Given the description of an element on the screen output the (x, y) to click on. 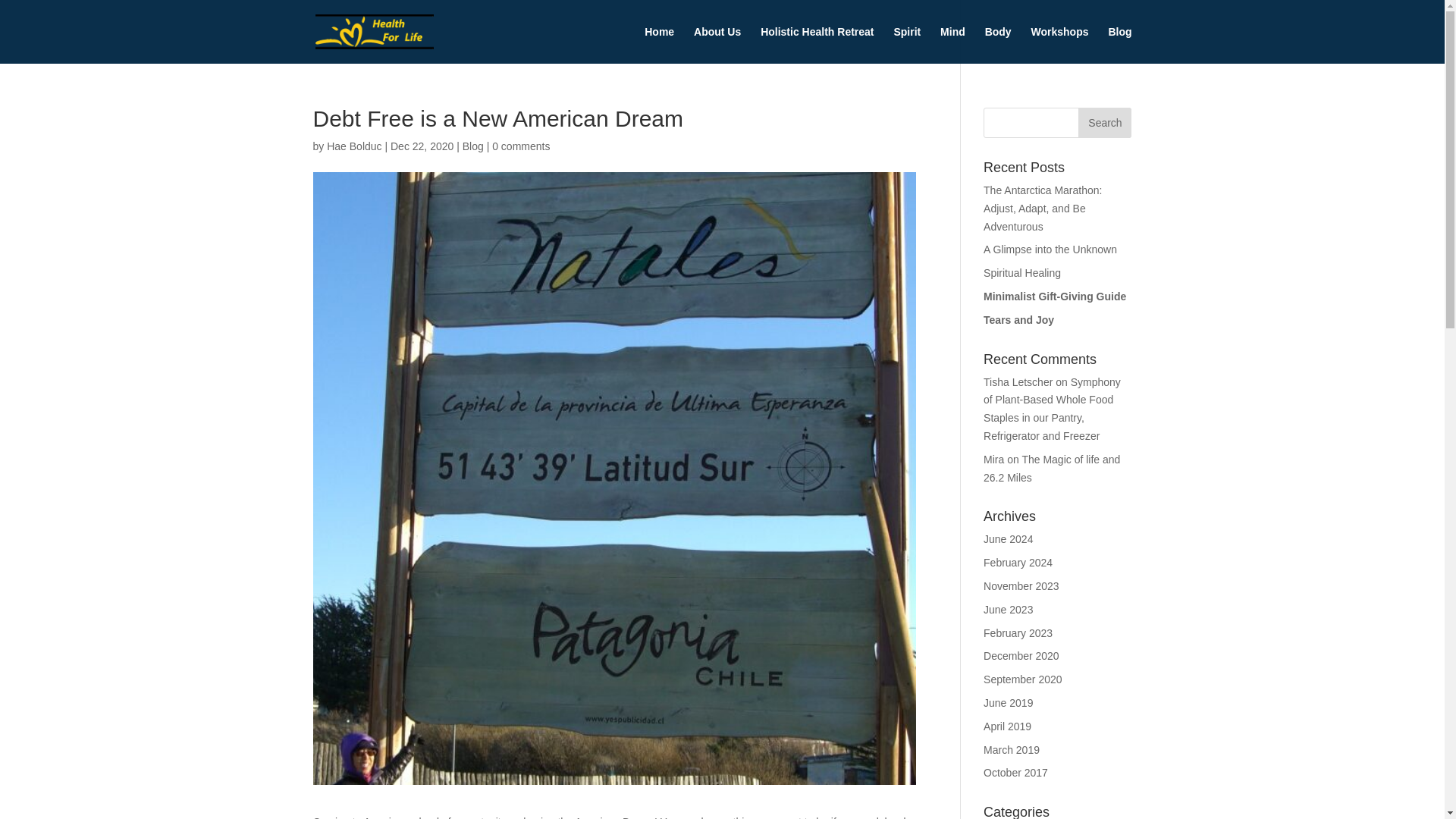
Search (1104, 122)
February 2023 (1018, 633)
December 2020 (1021, 655)
Blog (473, 146)
June 2024 (1008, 539)
Tears and Joy (1019, 319)
Hae Bolduc (353, 146)
Spiritual Healing (1022, 272)
September 2020 (1023, 679)
